Given the description of an element on the screen output the (x, y) to click on. 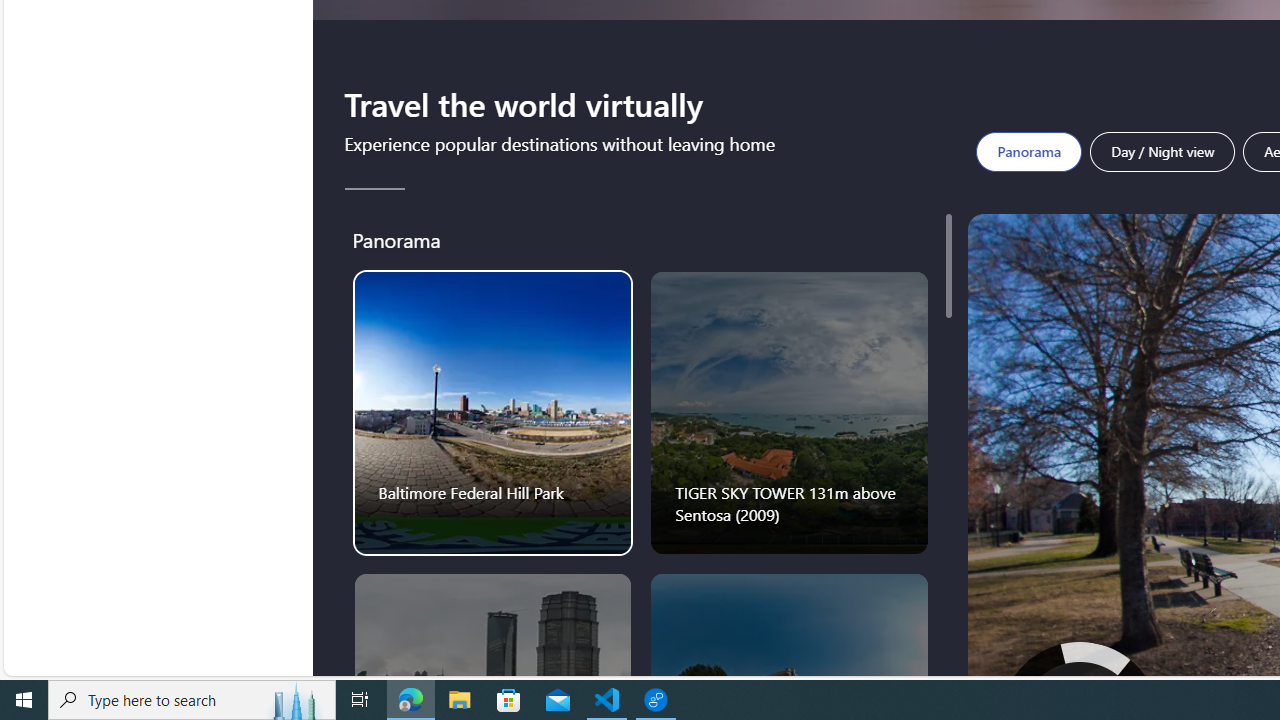
Click to move up (1079, 689)
Panorama (1028, 151)
Day / Night view (1163, 151)
Baltimore Federal Hill Park (492, 412)
TIGER SKY TOWER 131m above Sentosa (2009) (790, 412)
Baltimore Federal Hill Park (493, 412)
TIGER SKY TOWER 131m above Sentosa (2009) (789, 412)
